Given the description of an element on the screen output the (x, y) to click on. 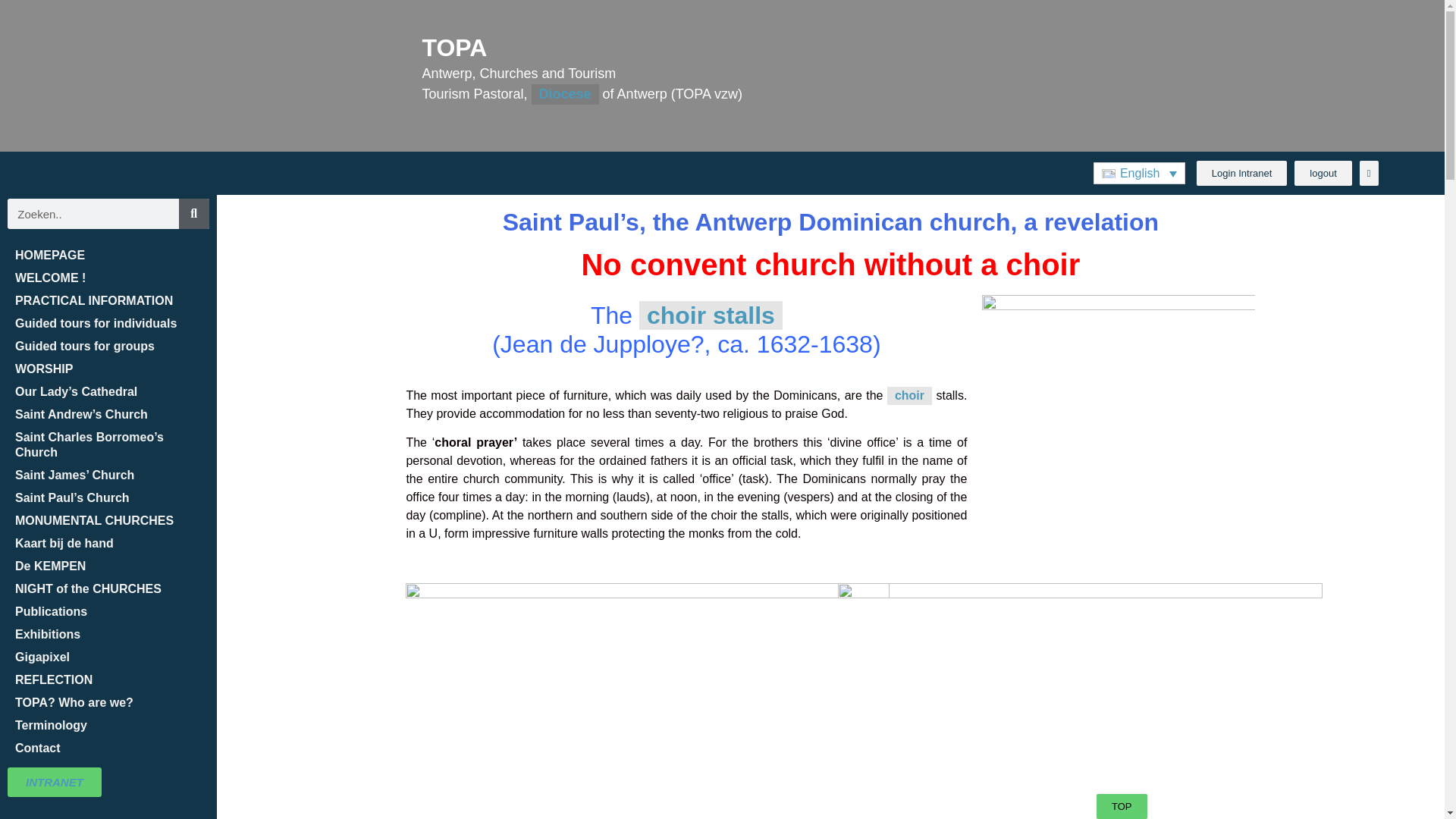
HOMEPAGE (108, 255)
Guided tours for groups (108, 345)
PRACTICAL INFORMATION (108, 300)
English (1139, 173)
Diocese (564, 94)
Guided tours for individuals (108, 323)
WORSHIP (108, 368)
logout (1322, 172)
TOPA (454, 47)
Login Intranet (1241, 172)
